Given the description of an element on the screen output the (x, y) to click on. 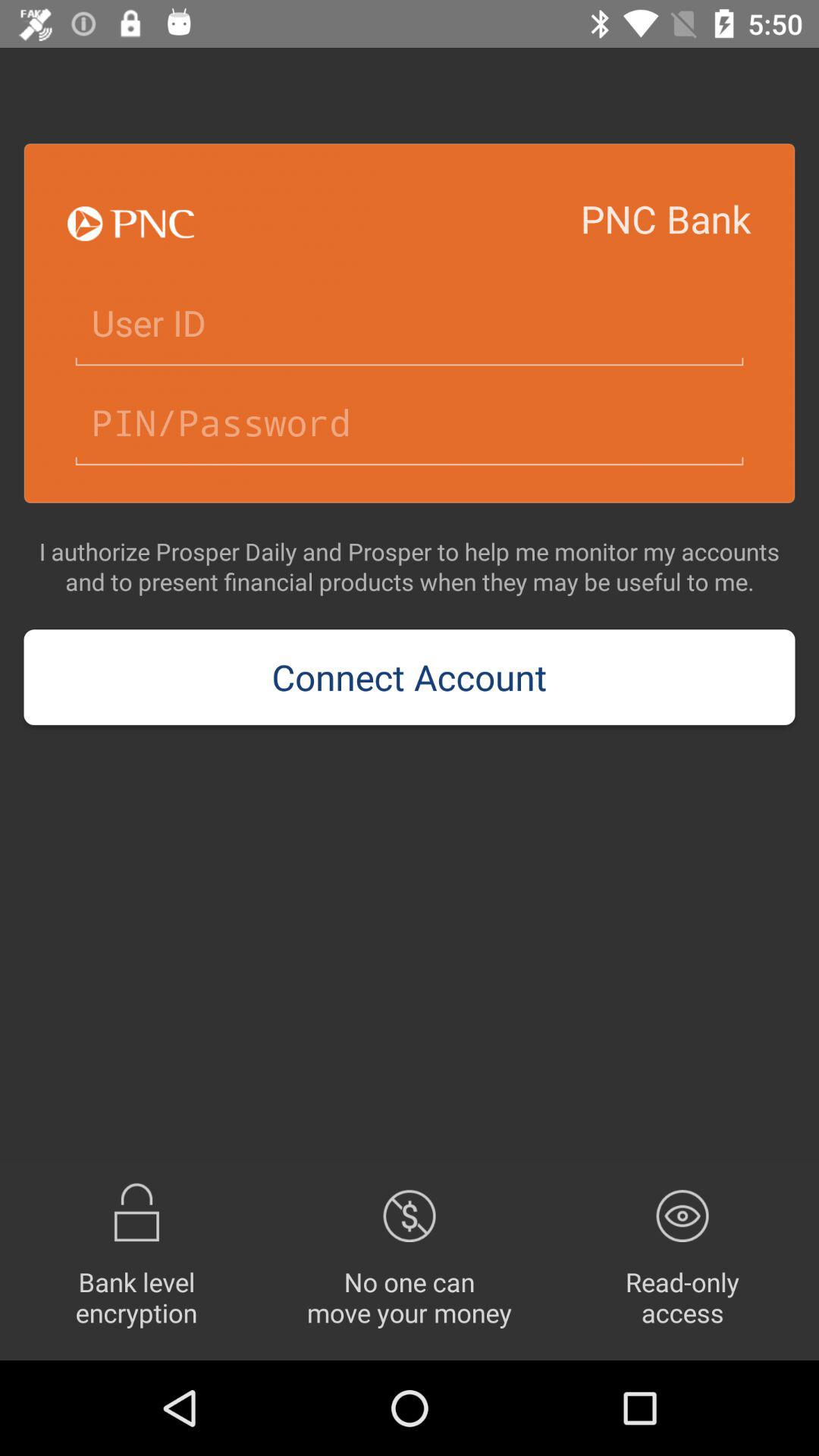
button page (409, 323)
